Given the description of an element on the screen output the (x, y) to click on. 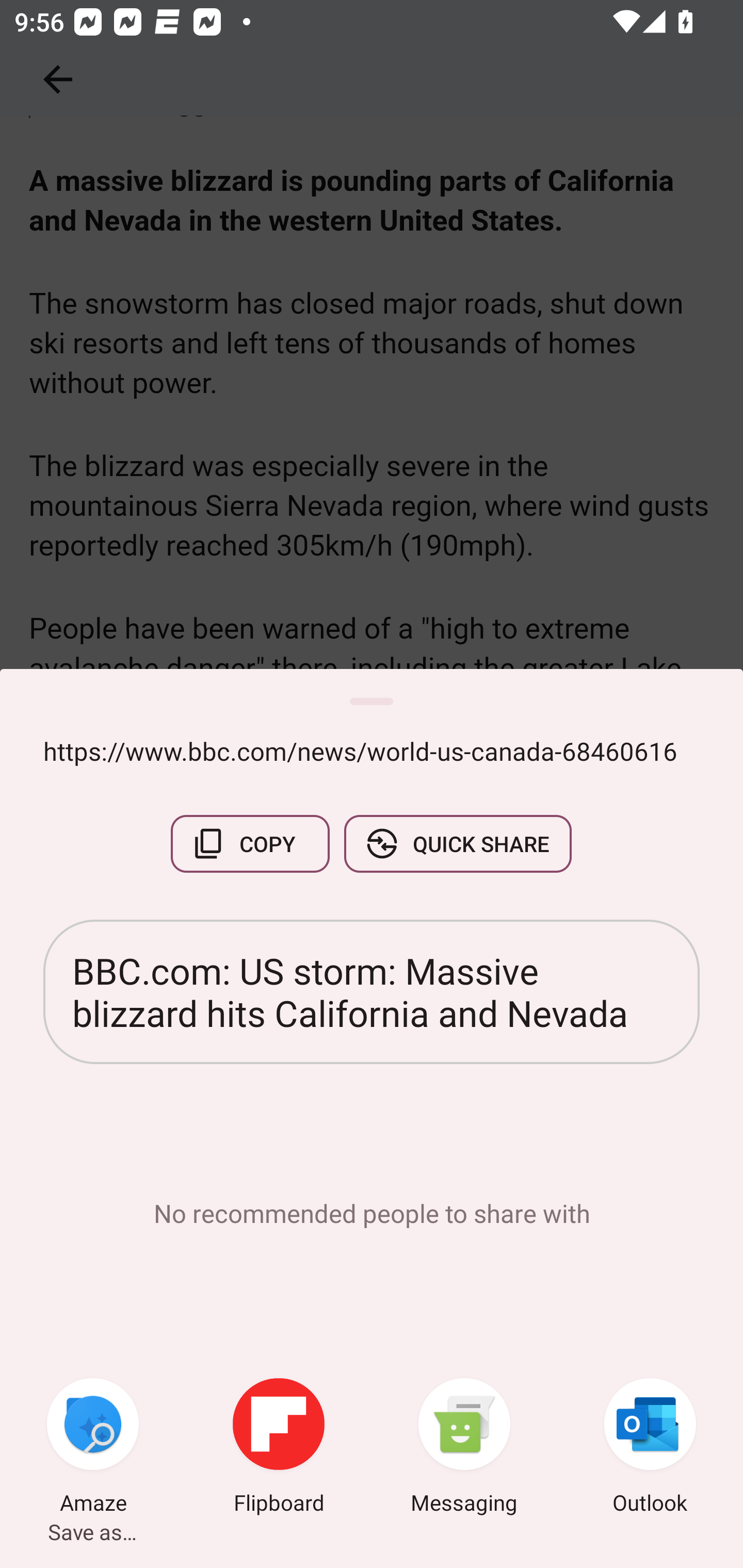
COPY (249, 844)
QUICK SHARE (457, 844)
Amaze Save as… (92, 1448)
Flipboard (278, 1448)
Messaging (464, 1448)
Outlook (650, 1448)
